Given the description of an element on the screen output the (x, y) to click on. 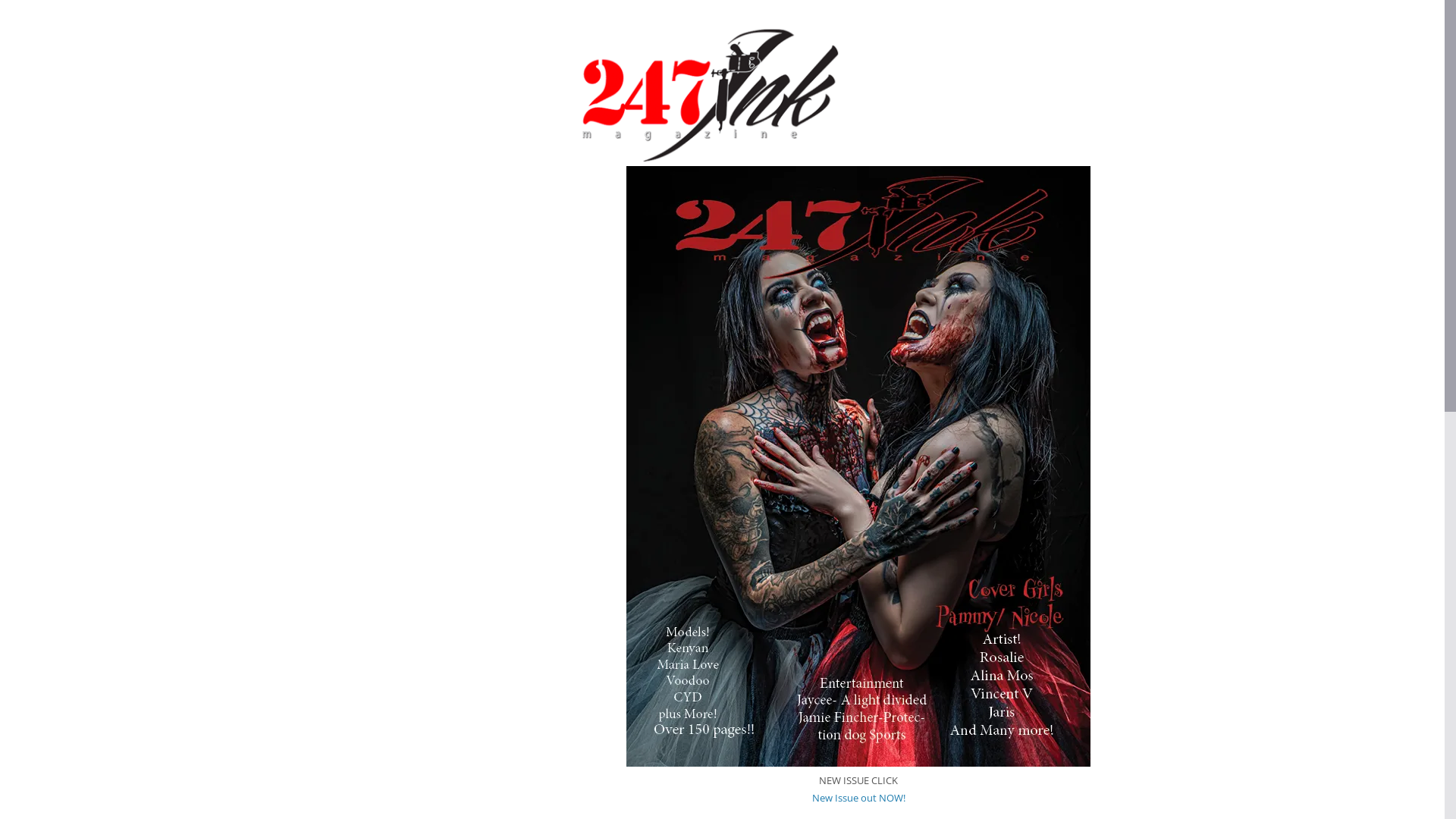
New Issue out NOW! Element type: text (858, 797)
